Given the description of an element on the screen output the (x, y) to click on. 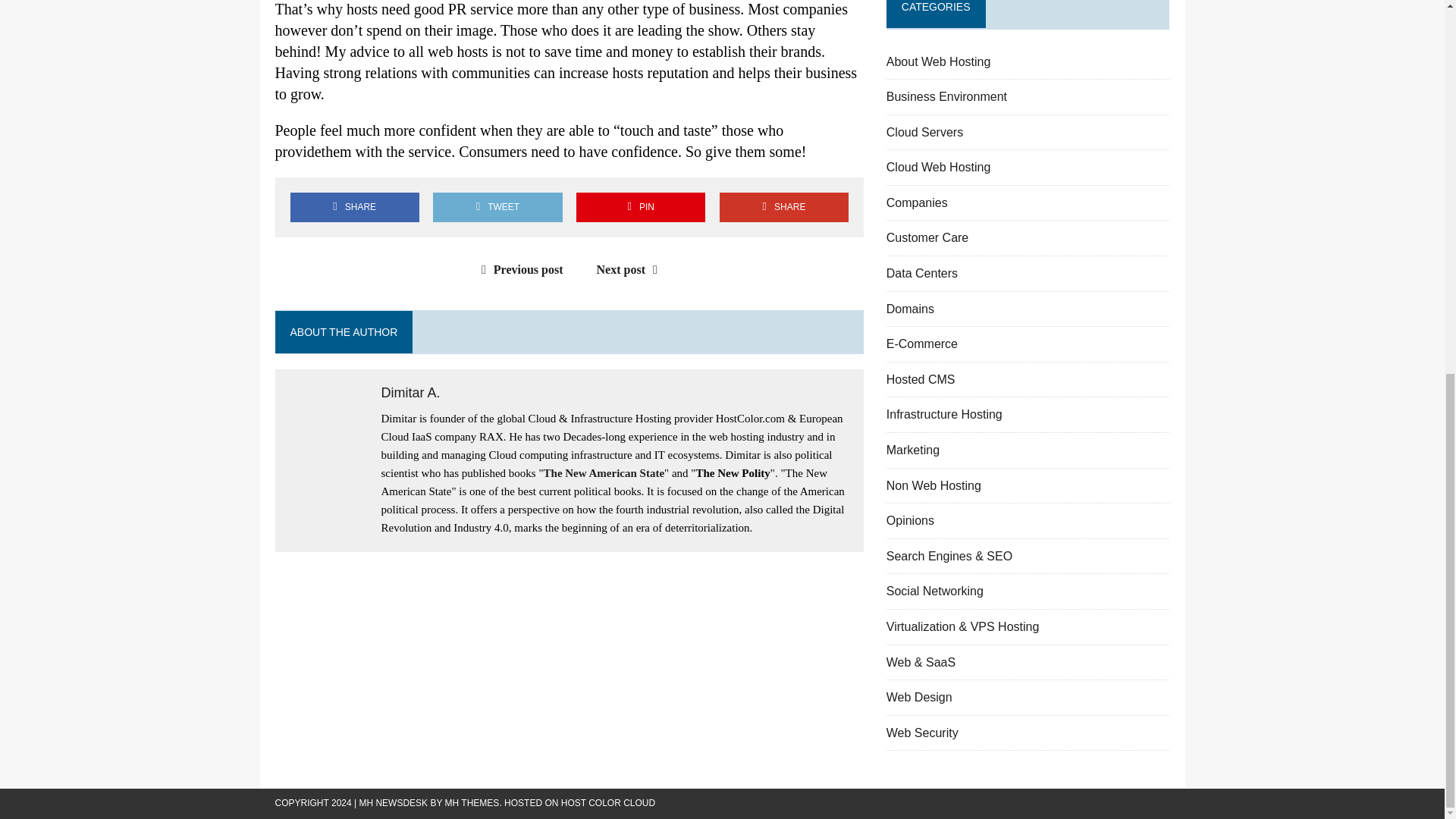
Premium Magazine WordPress Themes (472, 802)
Companies (916, 202)
Tweet This Post (497, 206)
PIN (640, 206)
Business Environment (946, 96)
Share on Facebook (354, 206)
SHARE (354, 206)
Pin This Post (640, 206)
Next post (630, 269)
TWEET (497, 206)
